Given the description of an element on the screen output the (x, y) to click on. 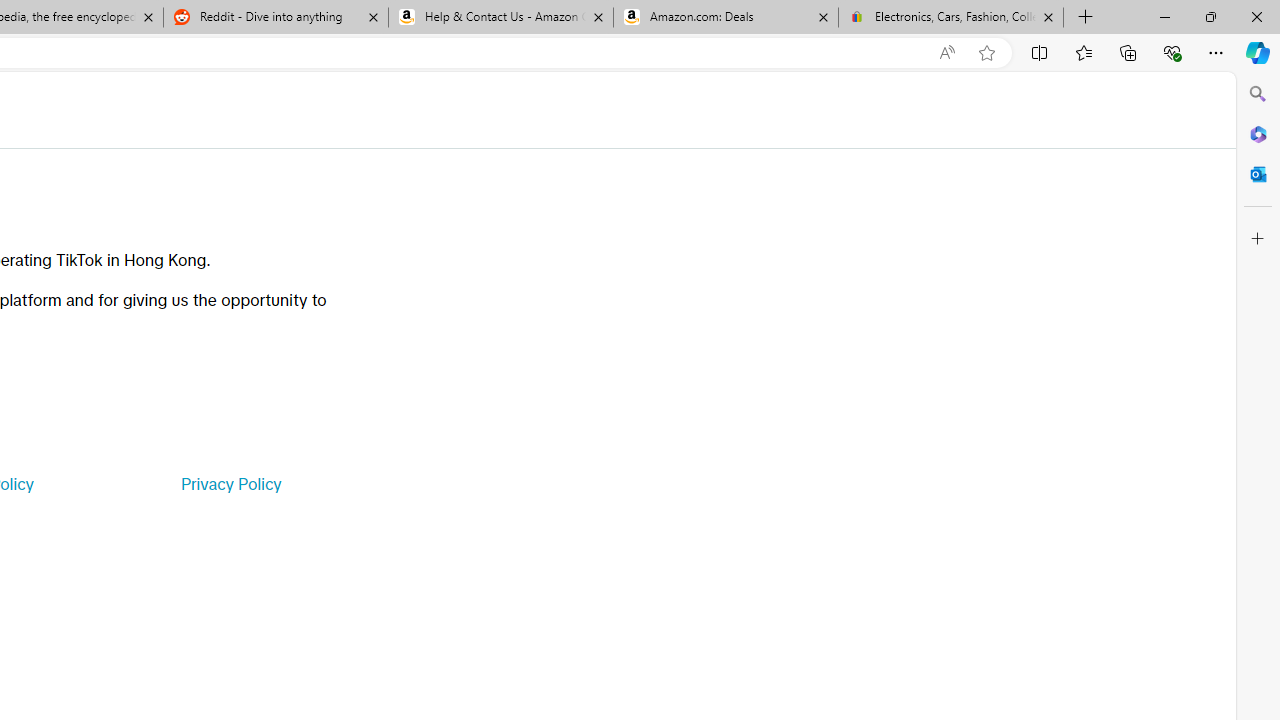
Amazon.com: Deals (726, 17)
